Given the description of an element on the screen output the (x, y) to click on. 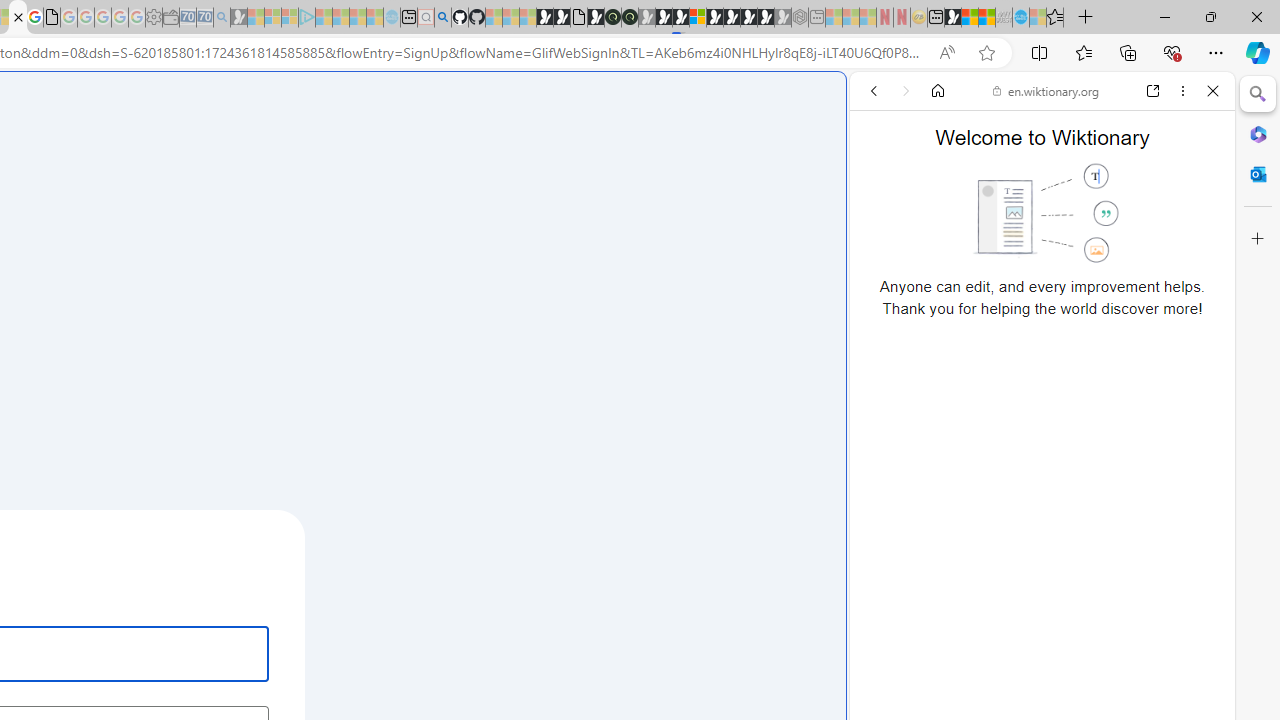
Tabs you've opened (276, 265)
